Given the description of an element on the screen output the (x, y) to click on. 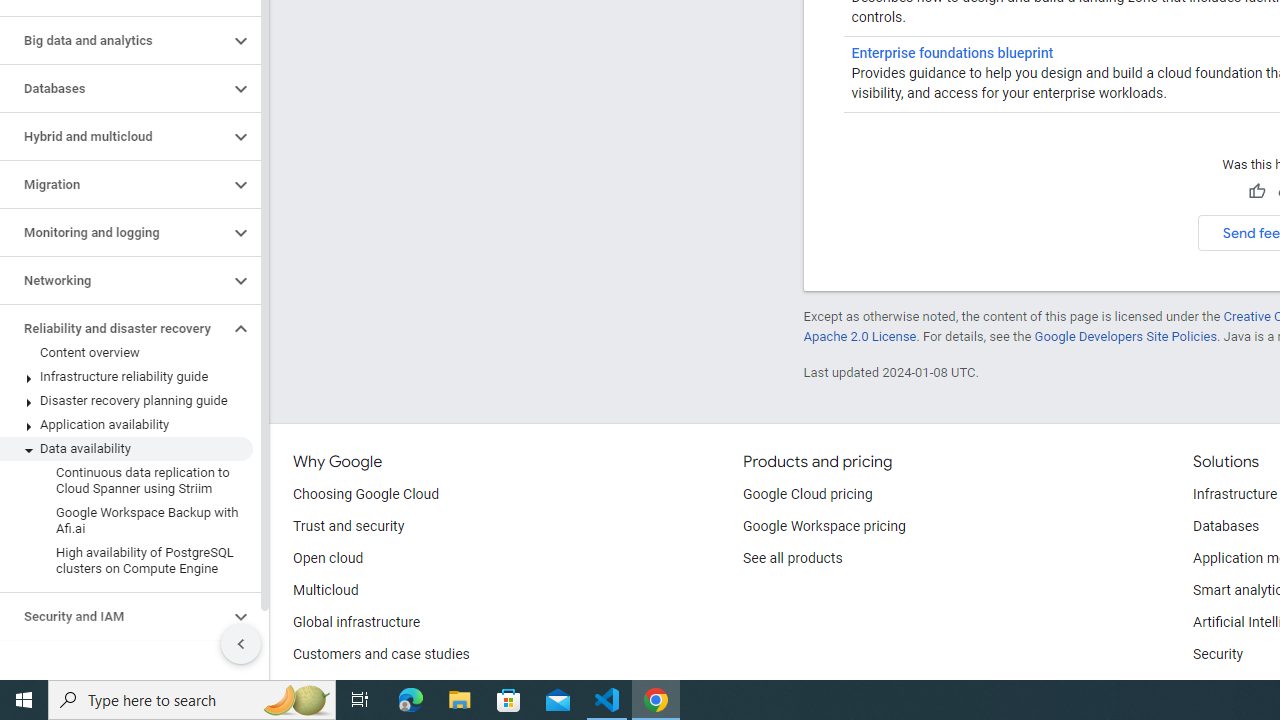
Open cloud (328, 558)
Choosing Google Cloud (366, 494)
Big data and analytics (114, 40)
Analyst reports (340, 686)
Helpful (1256, 192)
